Given the description of an element on the screen output the (x, y) to click on. 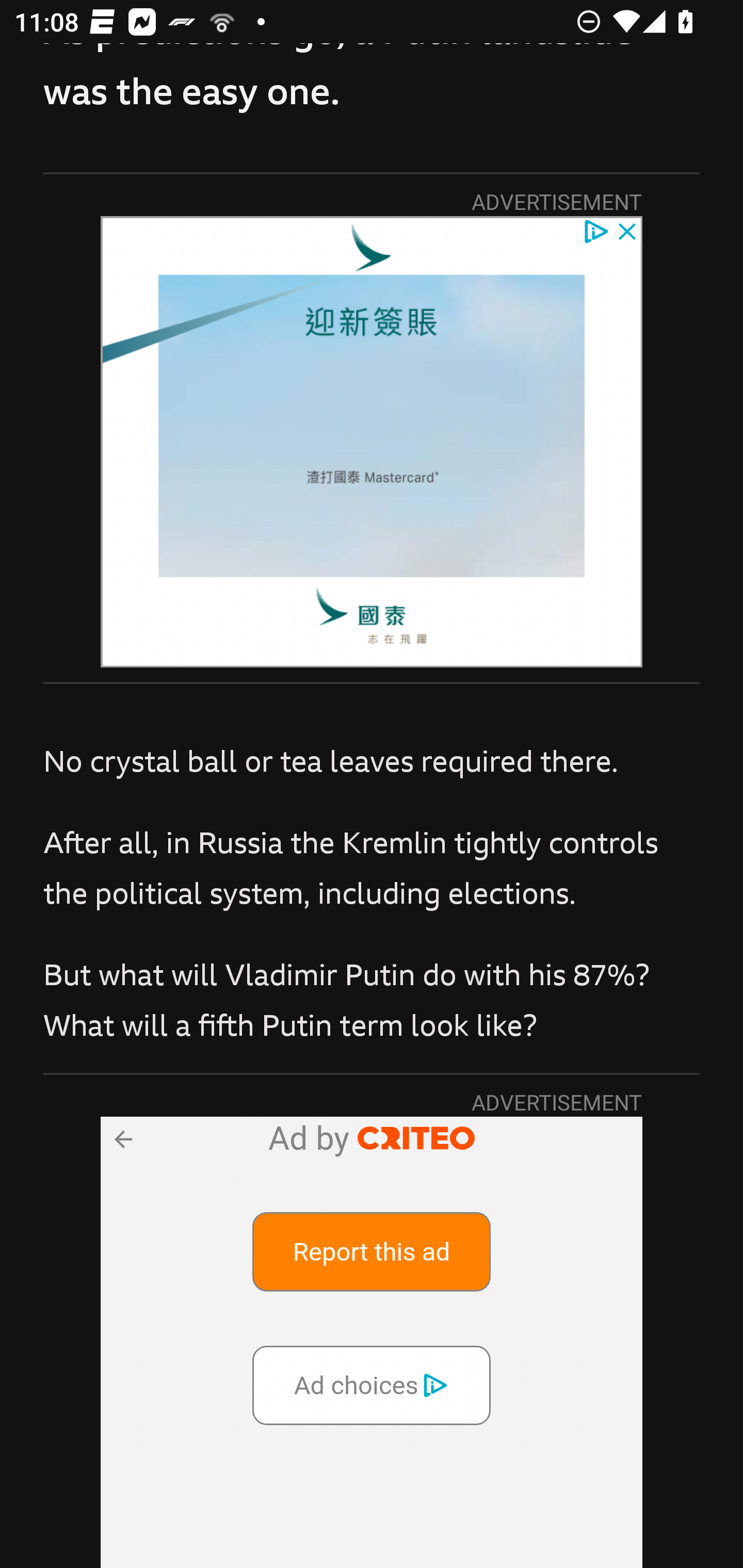
privacy_small (595, 230)
close_button (627, 230)
back_button2 (121, 1138)
Report this ad (371, 1251)
Ad choices Ad choices privacy (371, 1384)
